Given the description of an element on the screen output the (x, y) to click on. 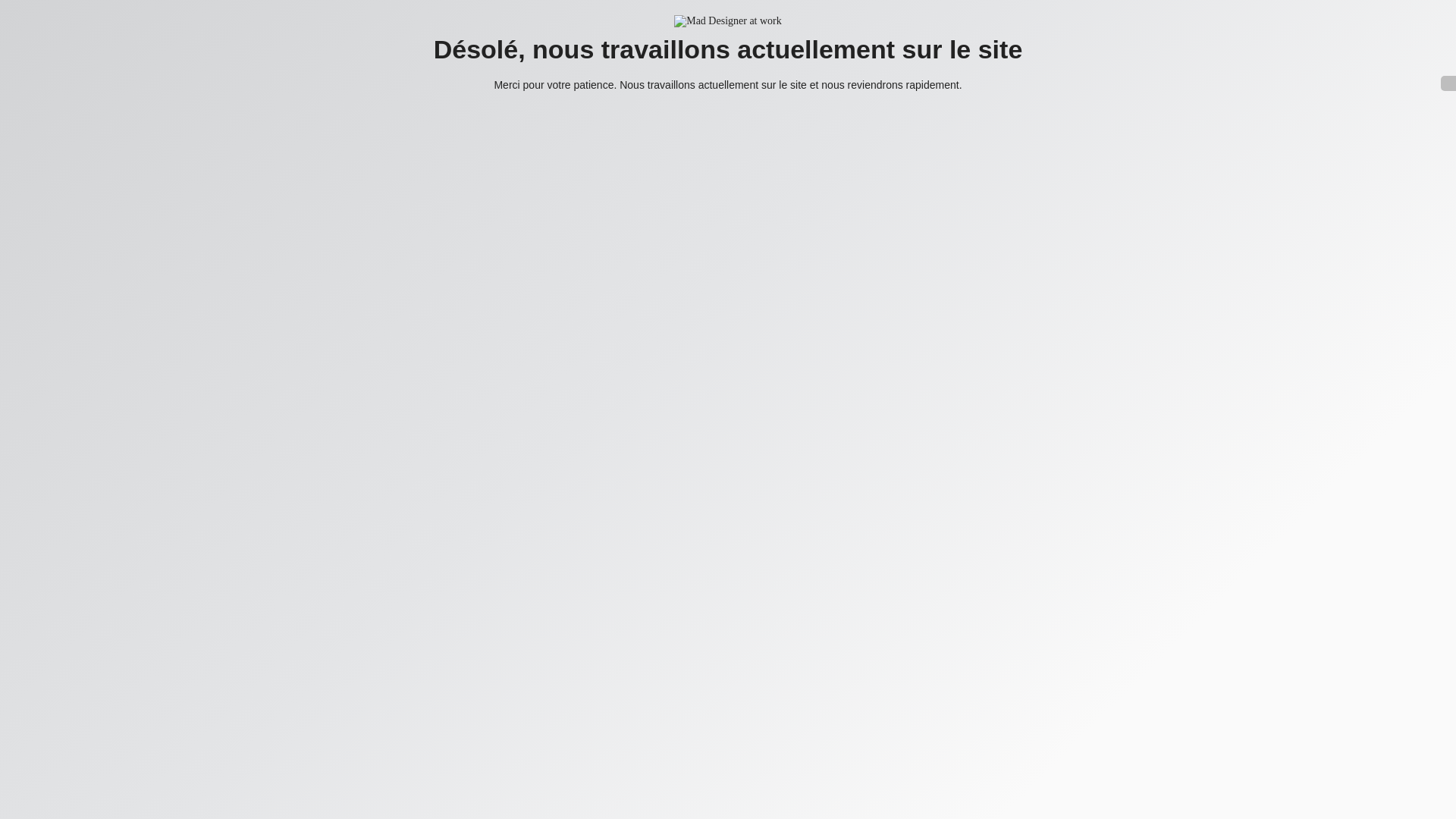
Mad Designer at work Element type: hover (727, 21)
